Given the description of an element on the screen output the (x, y) to click on. 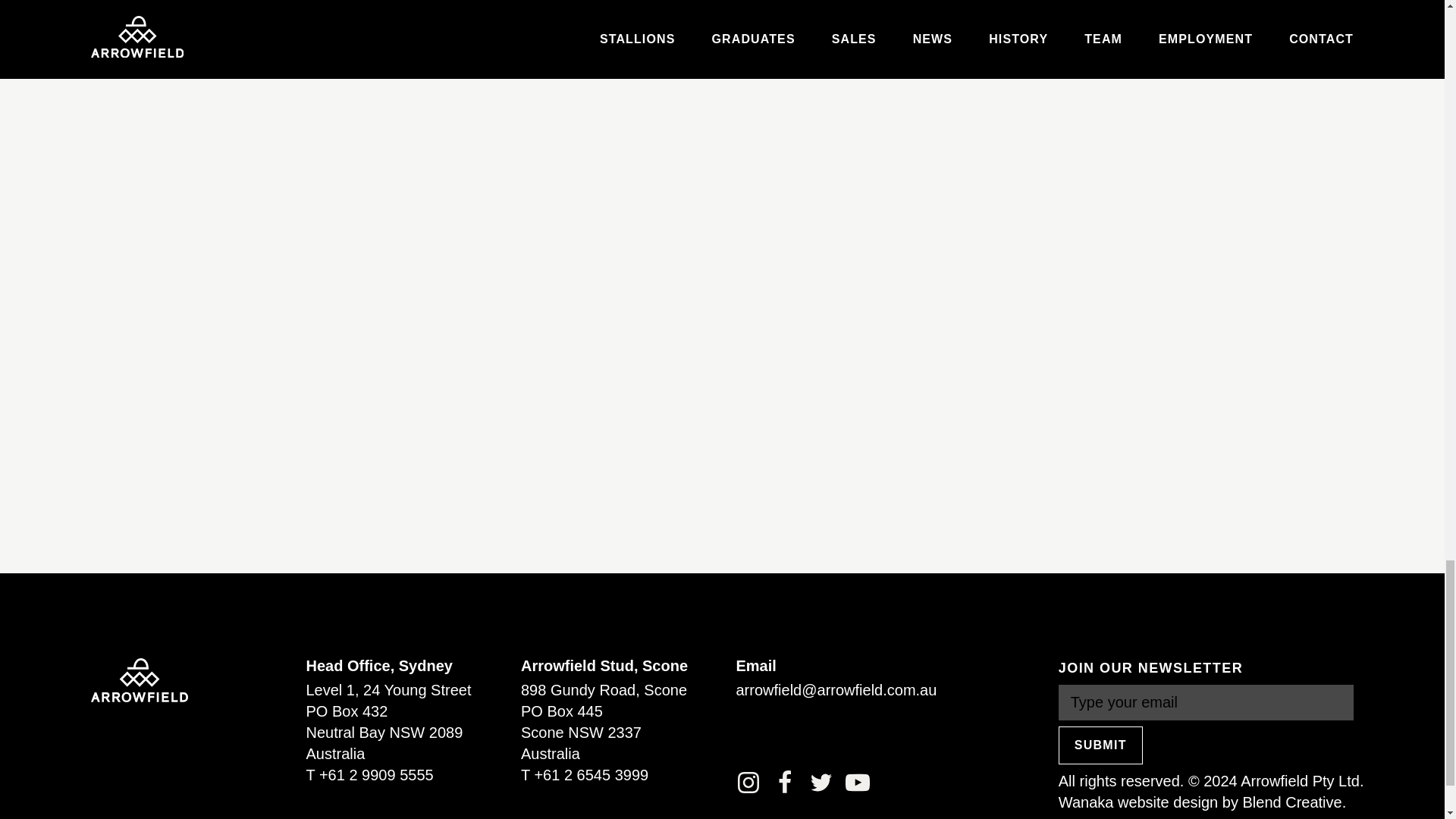
Arrowfield (138, 679)
Wanaka website design by Blend Creative. (1201, 801)
Arrowfield (138, 679)
Return to the homepage (138, 679)
SUBMIT (1100, 745)
